Given the description of an element on the screen output the (x, y) to click on. 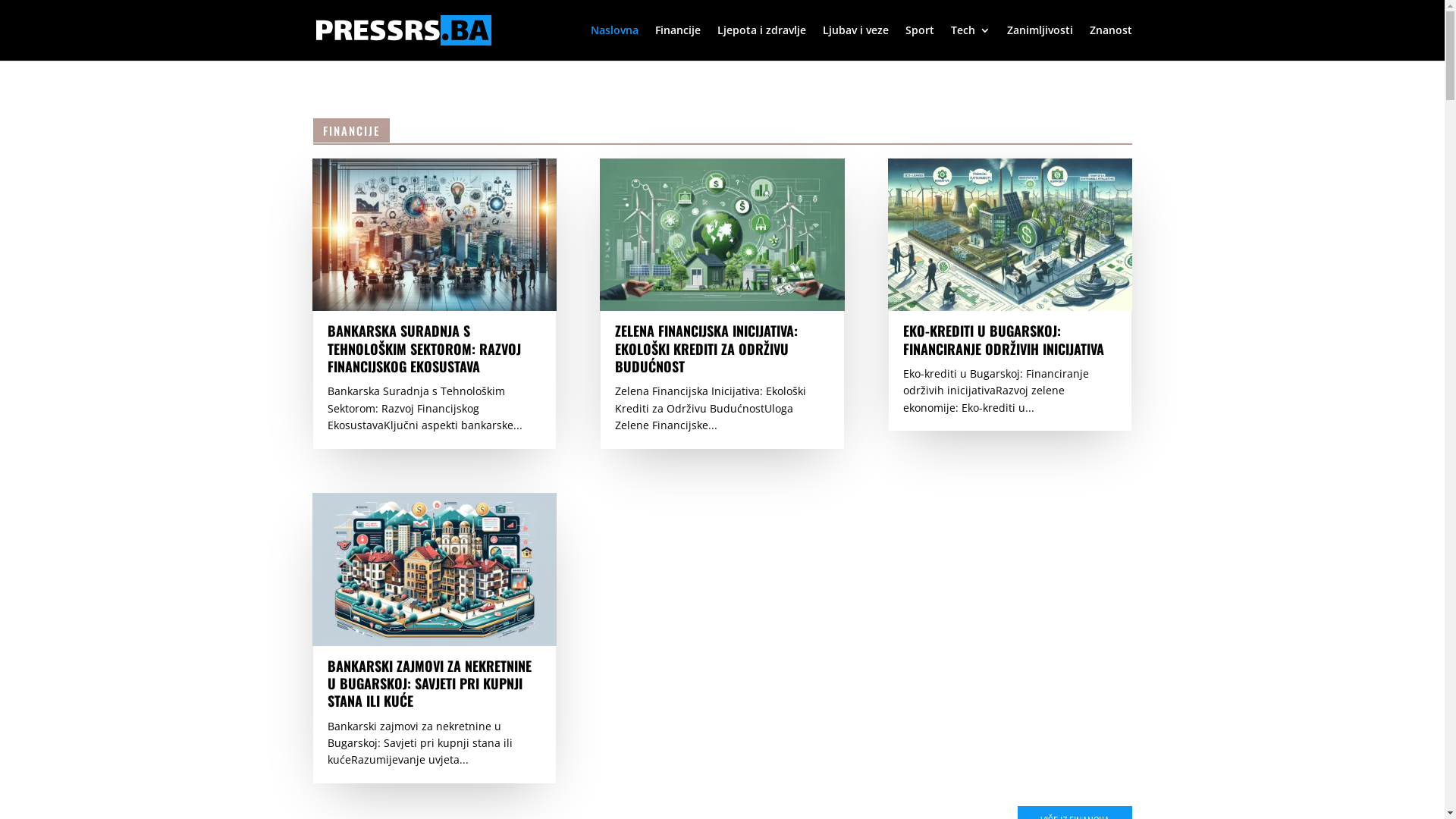
Ljepota i zdravlje Element type: text (761, 42)
Sport Element type: text (919, 42)
Ljubav i veze Element type: text (855, 42)
Tech Element type: text (970, 42)
Znanost Element type: text (1109, 42)
Zanimljivosti Element type: text (1040, 42)
Financije Element type: text (677, 42)
Naslovna Element type: text (613, 42)
